Given the description of an element on the screen output the (x, y) to click on. 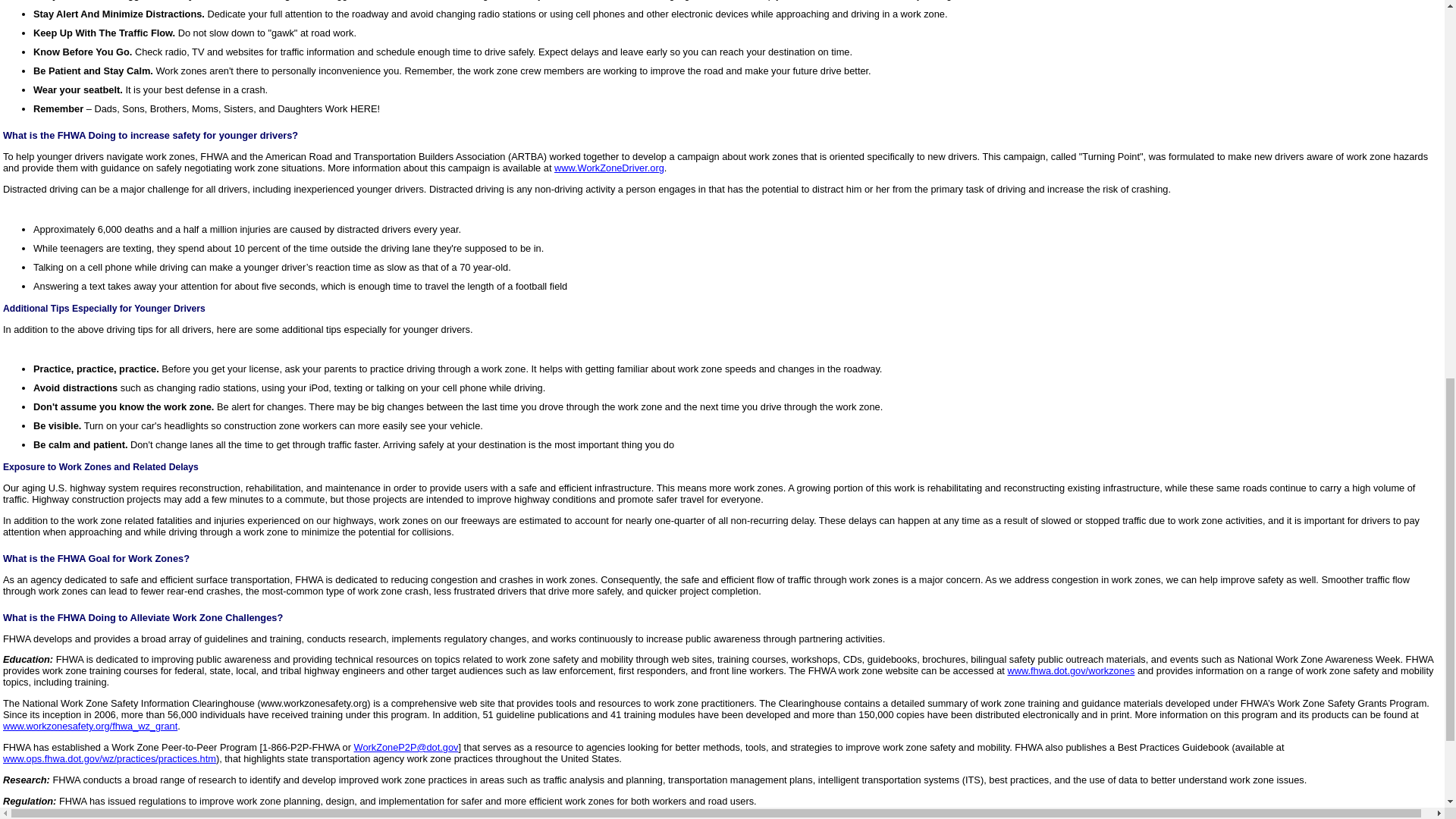
www.WorkZoneDriver.org (608, 167)
